Given the description of an element on the screen output the (x, y) to click on. 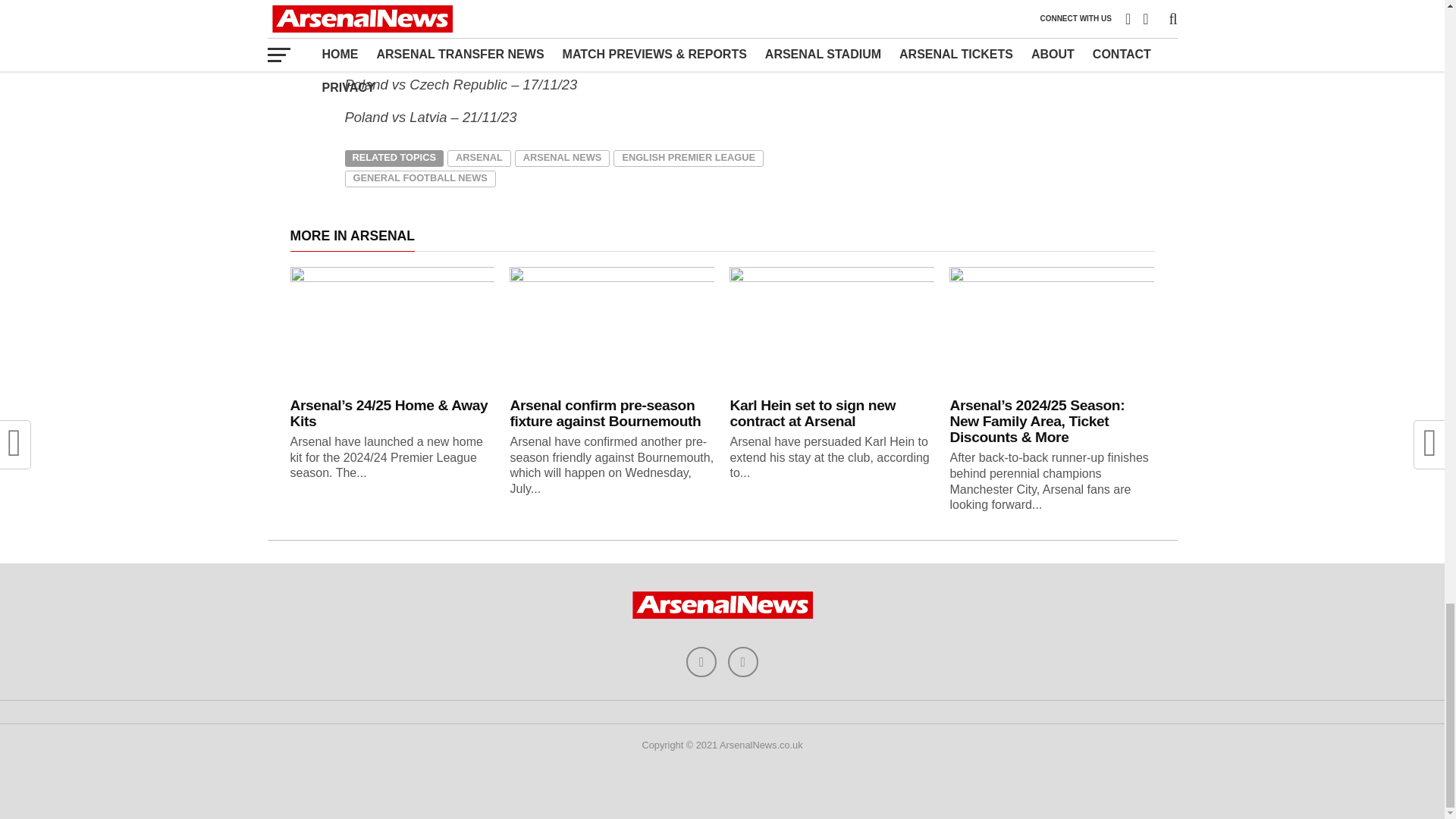
GENERAL FOOTBALL NEWS (419, 178)
ARSENAL NEWS (562, 158)
ENGLISH PREMIER LEAGUE (687, 158)
ARSENAL (478, 158)
